Given the description of an element on the screen output the (x, y) to click on. 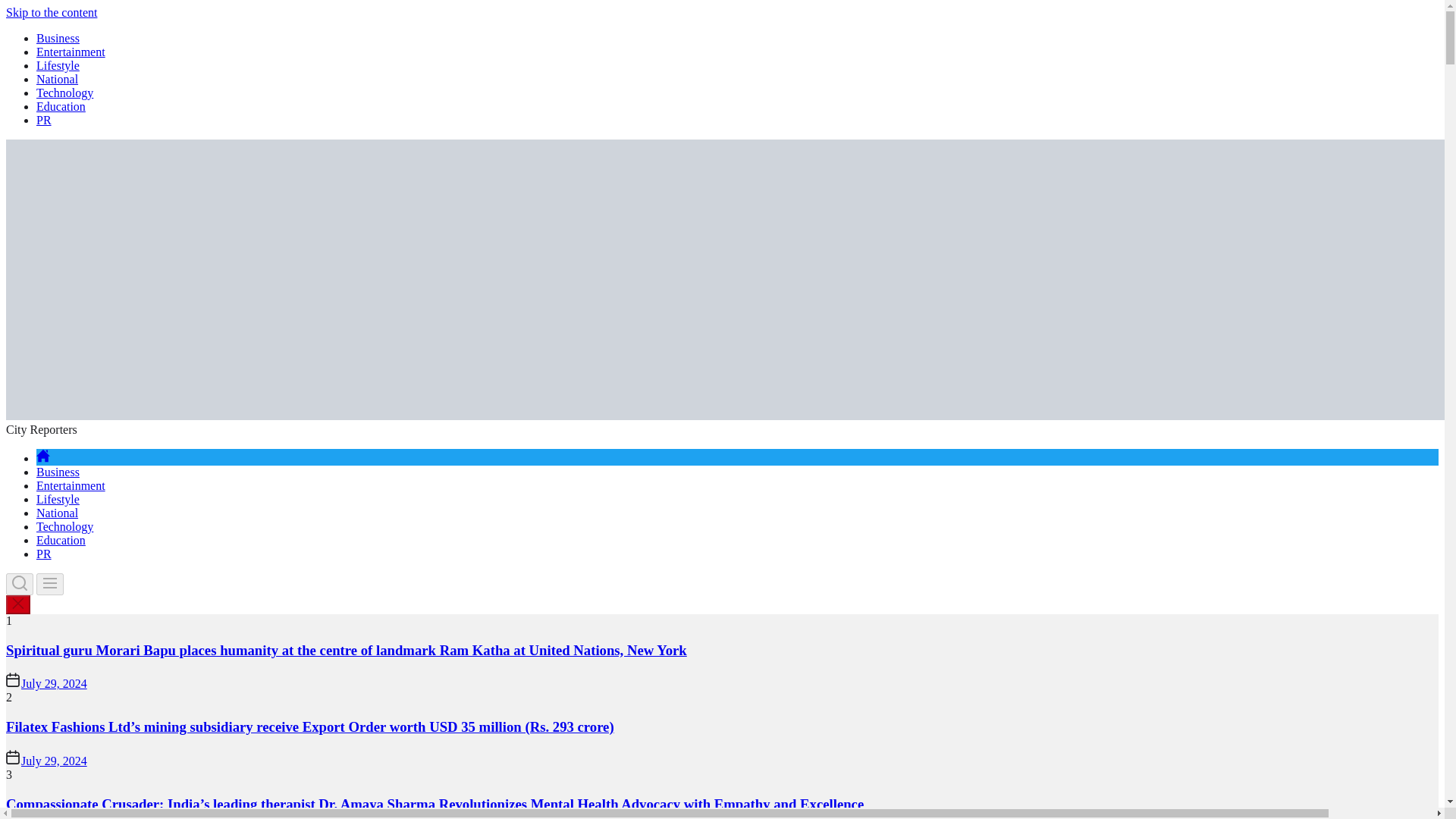
Technology (64, 526)
July 29, 2024 (54, 760)
Home (42, 458)
Education (60, 106)
Entertainment (70, 51)
National (57, 512)
Entertainment (70, 485)
Education (60, 540)
Business (58, 472)
Skip to the content (51, 11)
July 29, 2024 (54, 683)
Lifestyle (58, 499)
Business (58, 38)
Technology (64, 92)
